Given the description of an element on the screen output the (x, y) to click on. 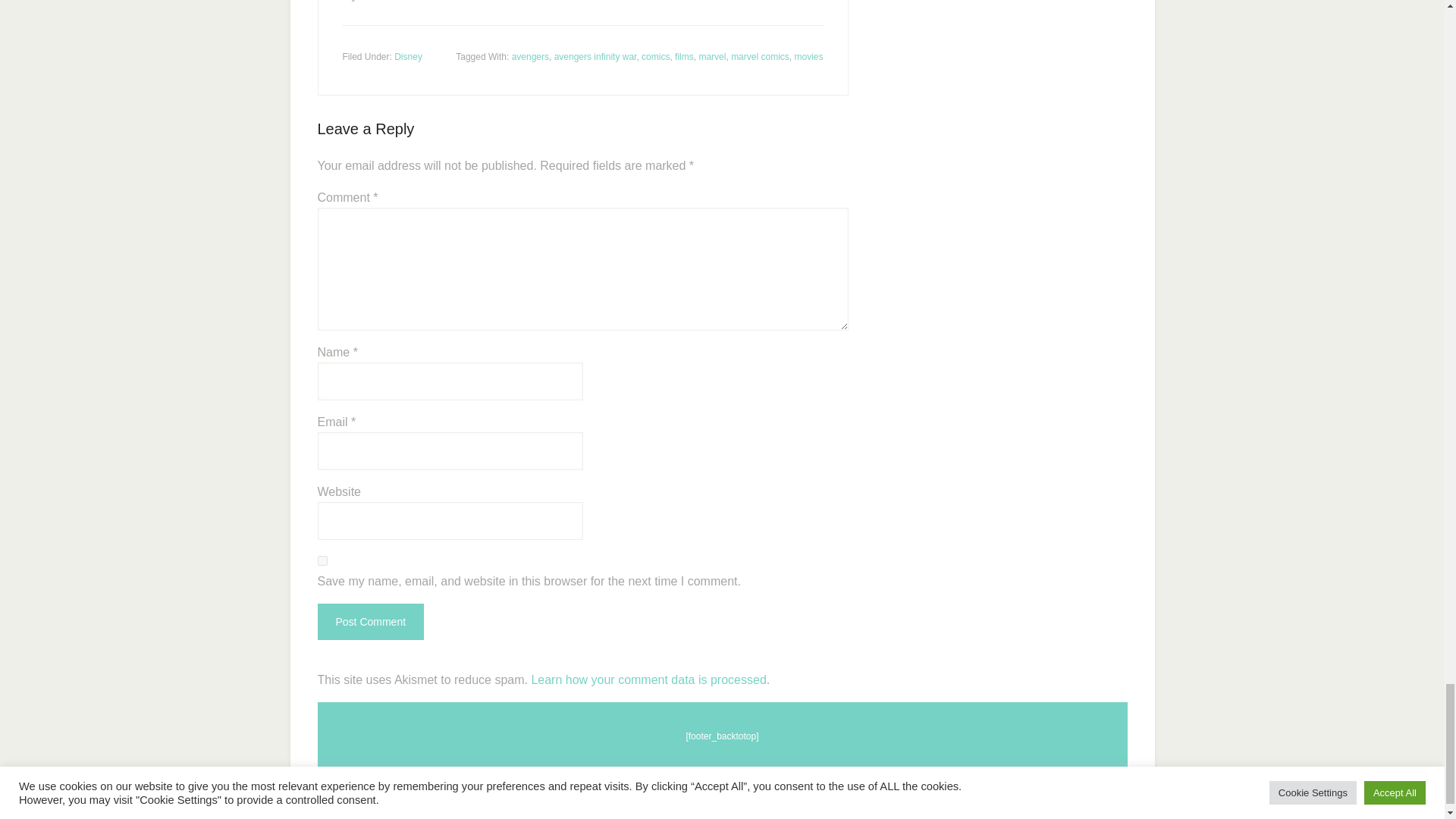
avengers (530, 56)
avengers infinity war (595, 56)
yes (321, 560)
films (684, 56)
marvel (711, 56)
comics (655, 56)
Disney (408, 56)
Post Comment (370, 621)
